Given the description of an element on the screen output the (x, y) to click on. 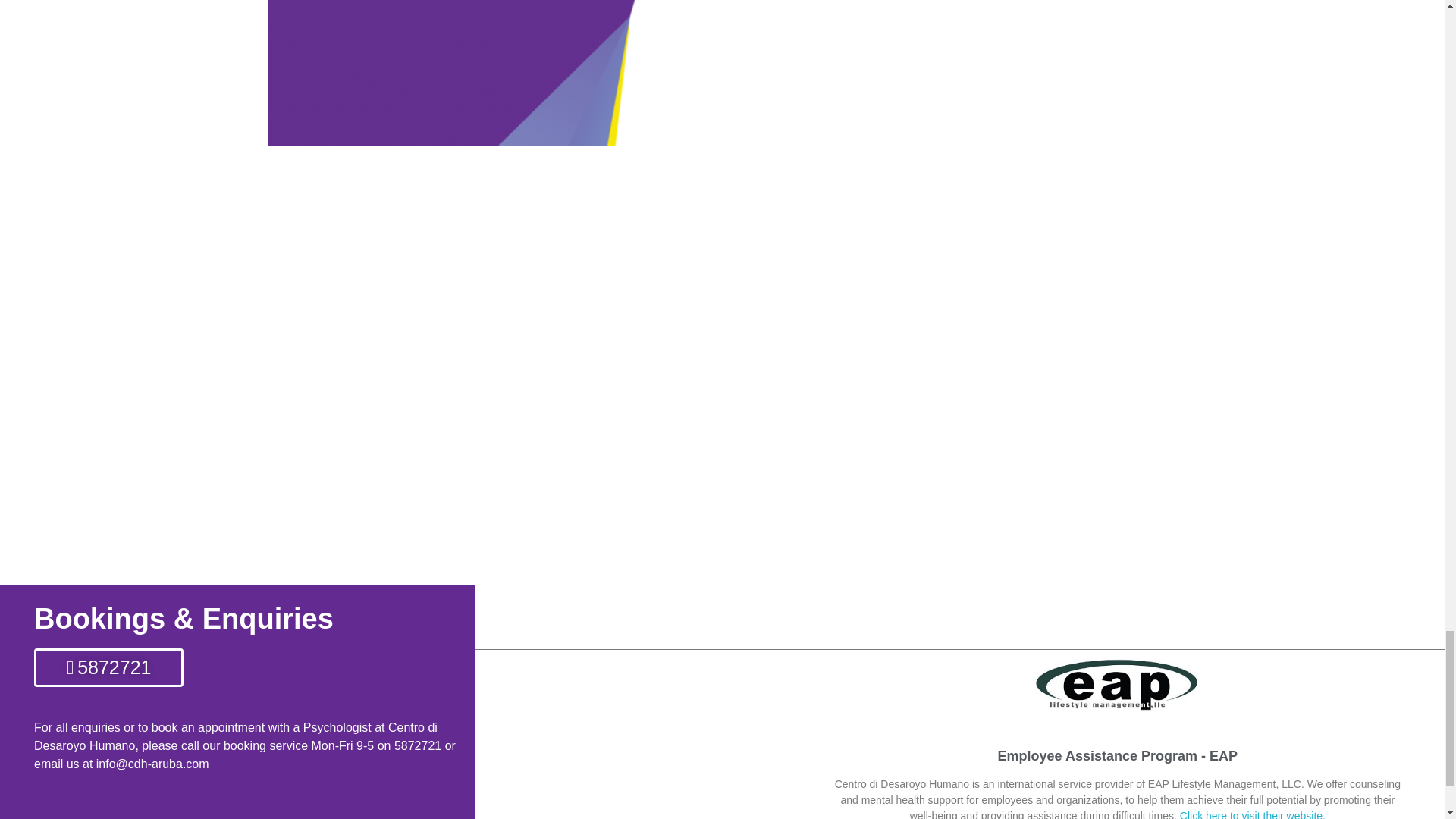
Employee Assistance Program - EAP (1117, 755)
5872721 (108, 667)
Click here to visit their website. (1251, 814)
